Given the description of an element on the screen output the (x, y) to click on. 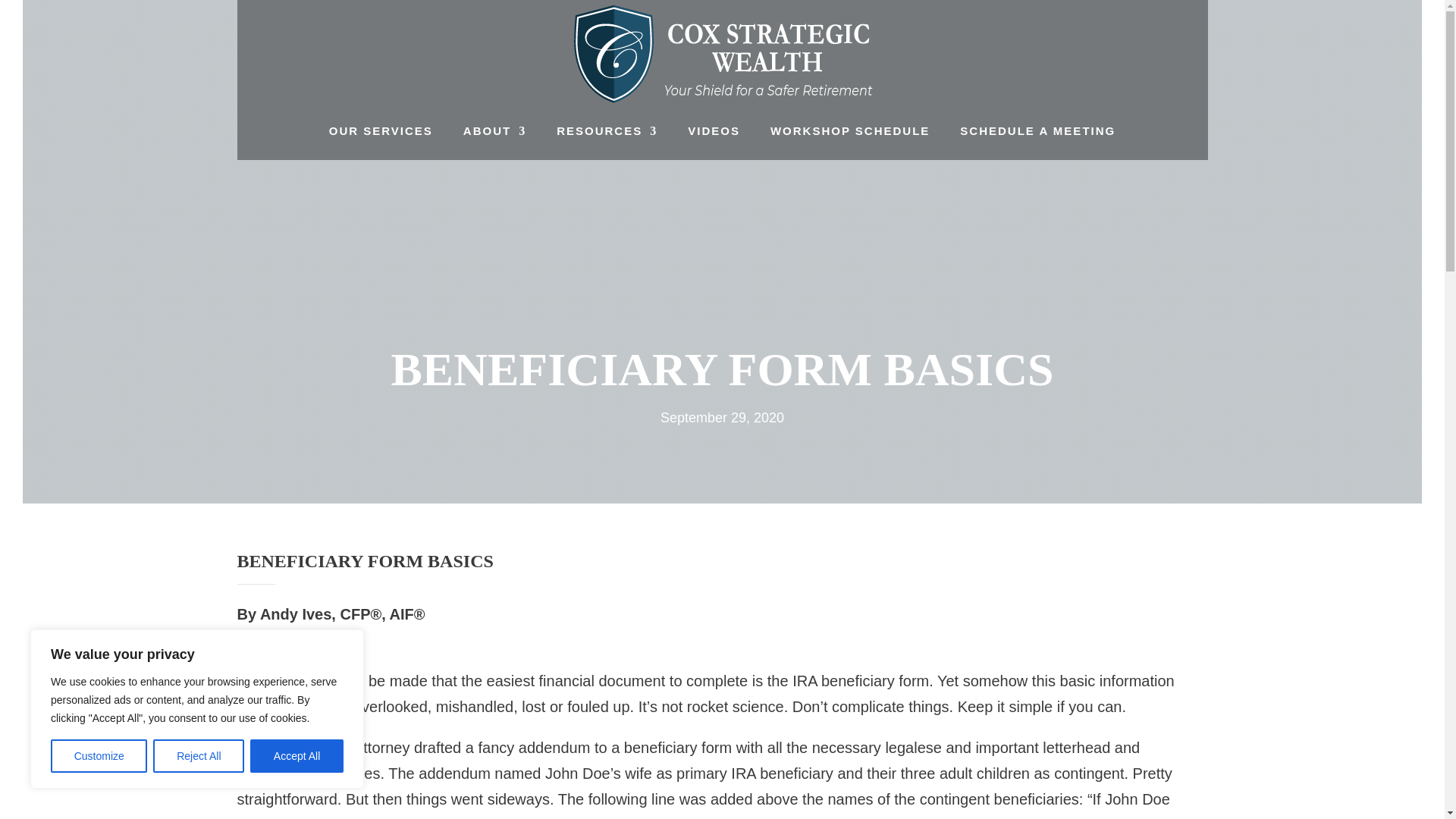
Customize (98, 756)
ABOUT (494, 130)
VIDEOS (713, 130)
Reject All (198, 756)
WORKSHOP SCHEDULE (850, 130)
OUR SERVICES (380, 130)
Accept All (296, 756)
SCHEDULE A MEETING (1037, 130)
RESOURCES (607, 130)
